Given the description of an element on the screen output the (x, y) to click on. 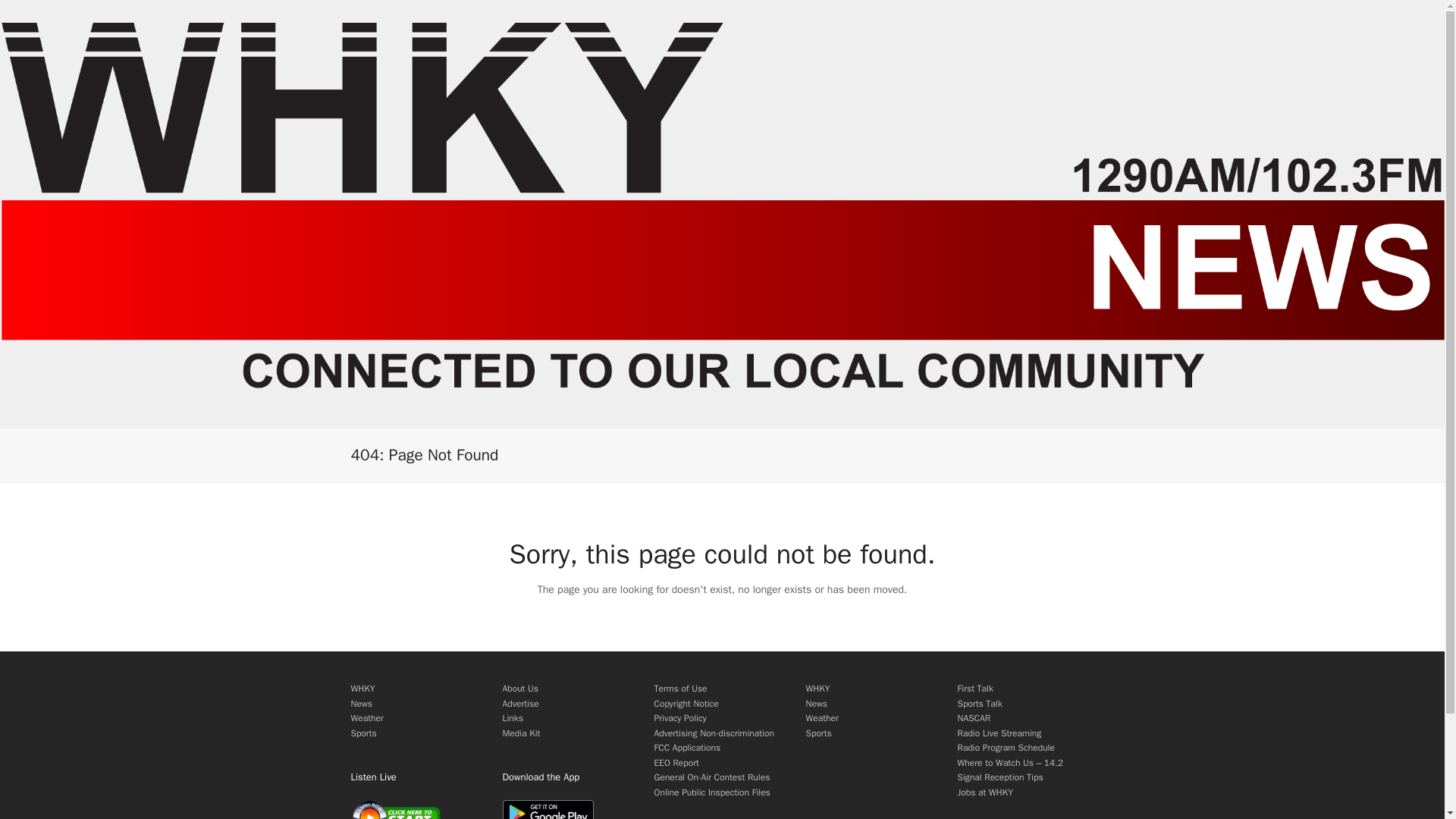
News (816, 703)
Advertise (520, 703)
Radio Program Schedule (1005, 747)
Radio Live Streaming (998, 733)
WHKY (817, 688)
Weather (366, 717)
Online Public Inspection Files (711, 792)
Privacy Policy (679, 717)
Advertising Non-discrimination (713, 733)
FCC Applications (686, 747)
Signal Reception Tips (999, 776)
News (361, 703)
Links (512, 717)
Jobs at WHKY (983, 792)
Sports (818, 733)
